Given the description of an element on the screen output the (x, y) to click on. 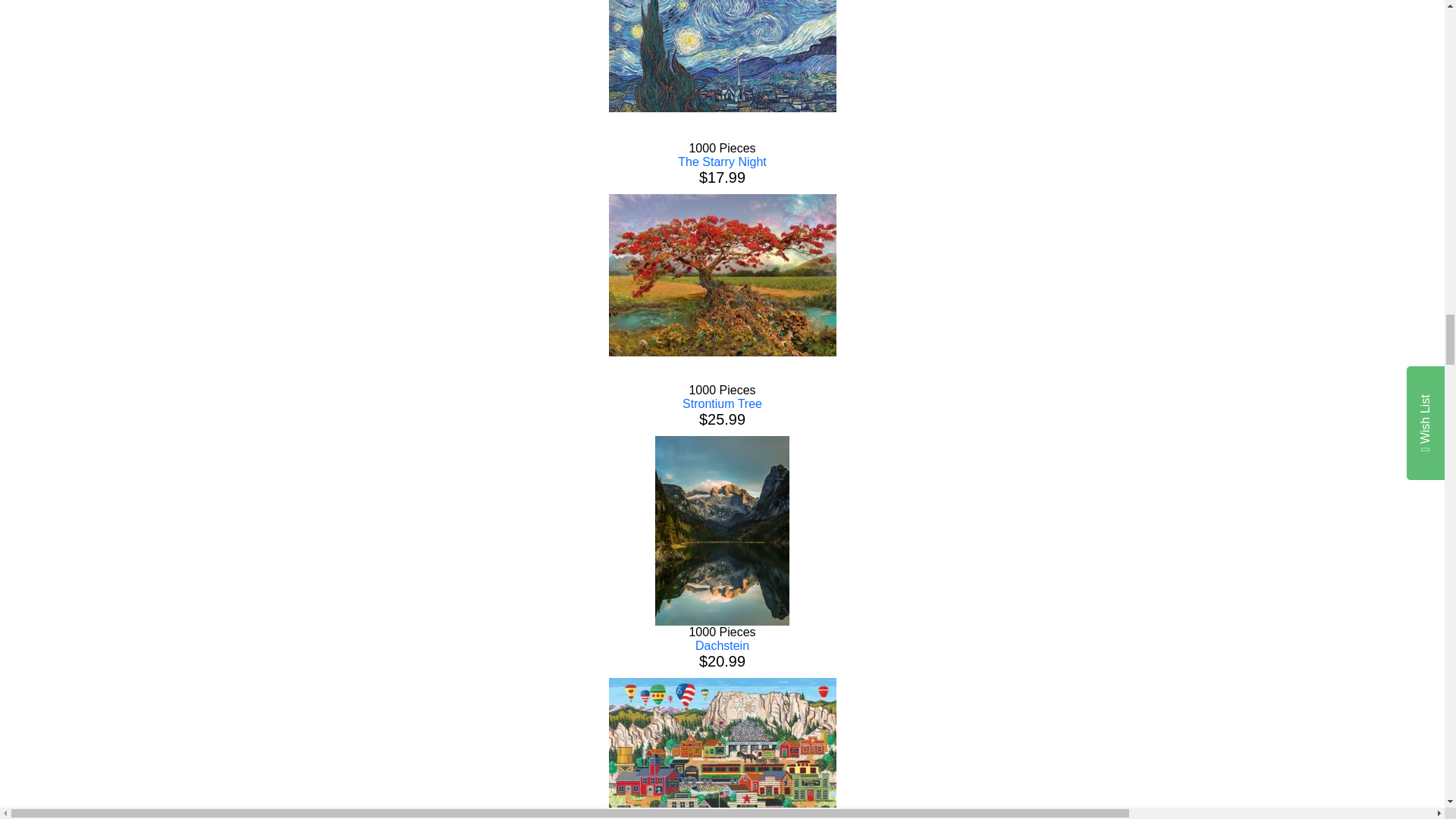
Strontium Tree Nature Jigsaw Puzzle By Heye (721, 275)
The Starry Night Landscape Jigsaw Puzzle By Trefl (721, 56)
